Given the description of an element on the screen output the (x, y) to click on. 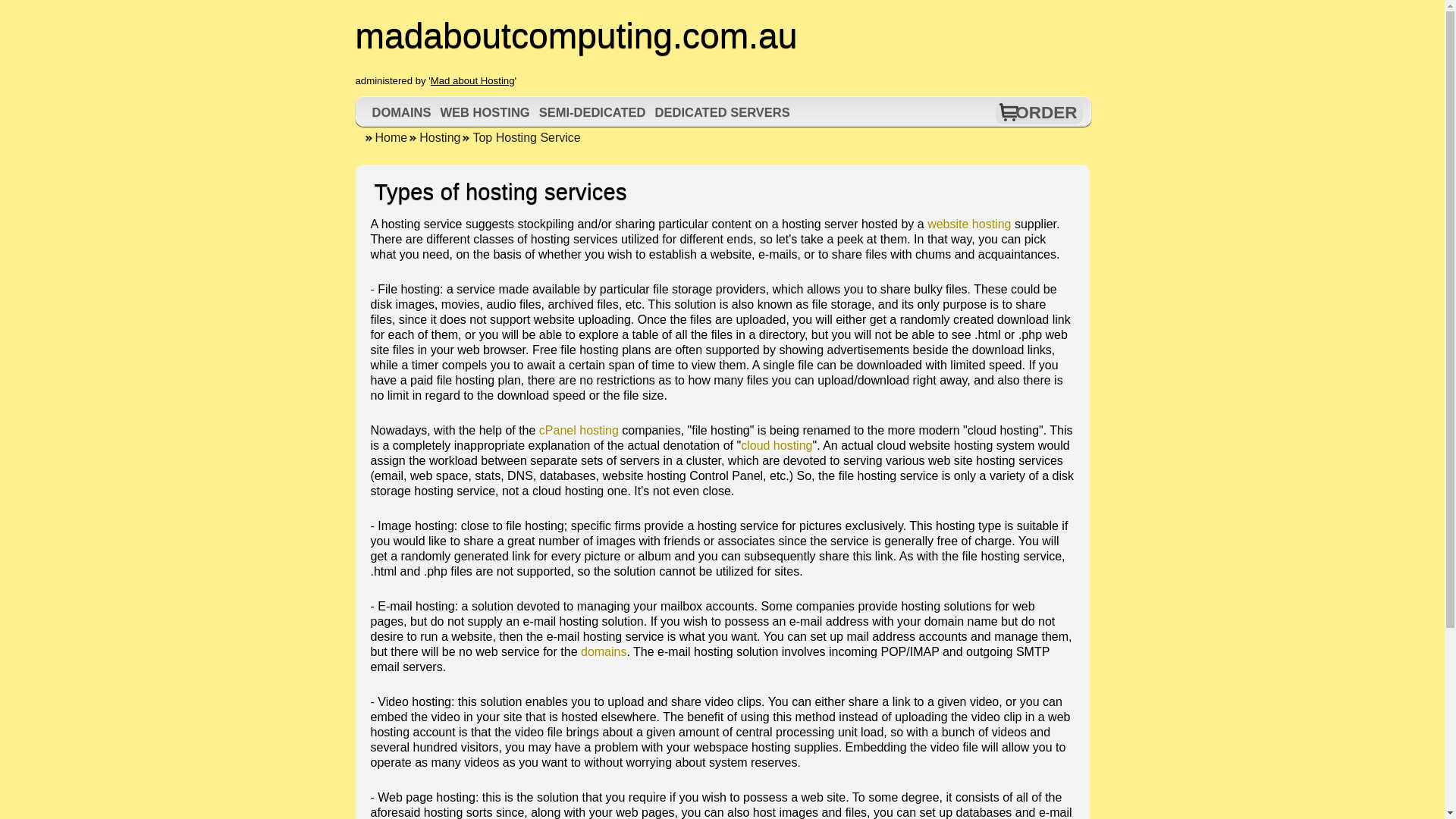
website hosting (968, 223)
DEDICATED SERVERS (721, 112)
Mad about Hosting (472, 80)
Hosting (433, 137)
cloud hosting (776, 445)
WEB HOSTING (483, 112)
Home (384, 137)
SEMI-DEDICATED (592, 112)
cPanel hosting (578, 430)
domains (603, 651)
DOMAINS (401, 112)
ORDER (1045, 112)
